Given the description of an element on the screen output the (x, y) to click on. 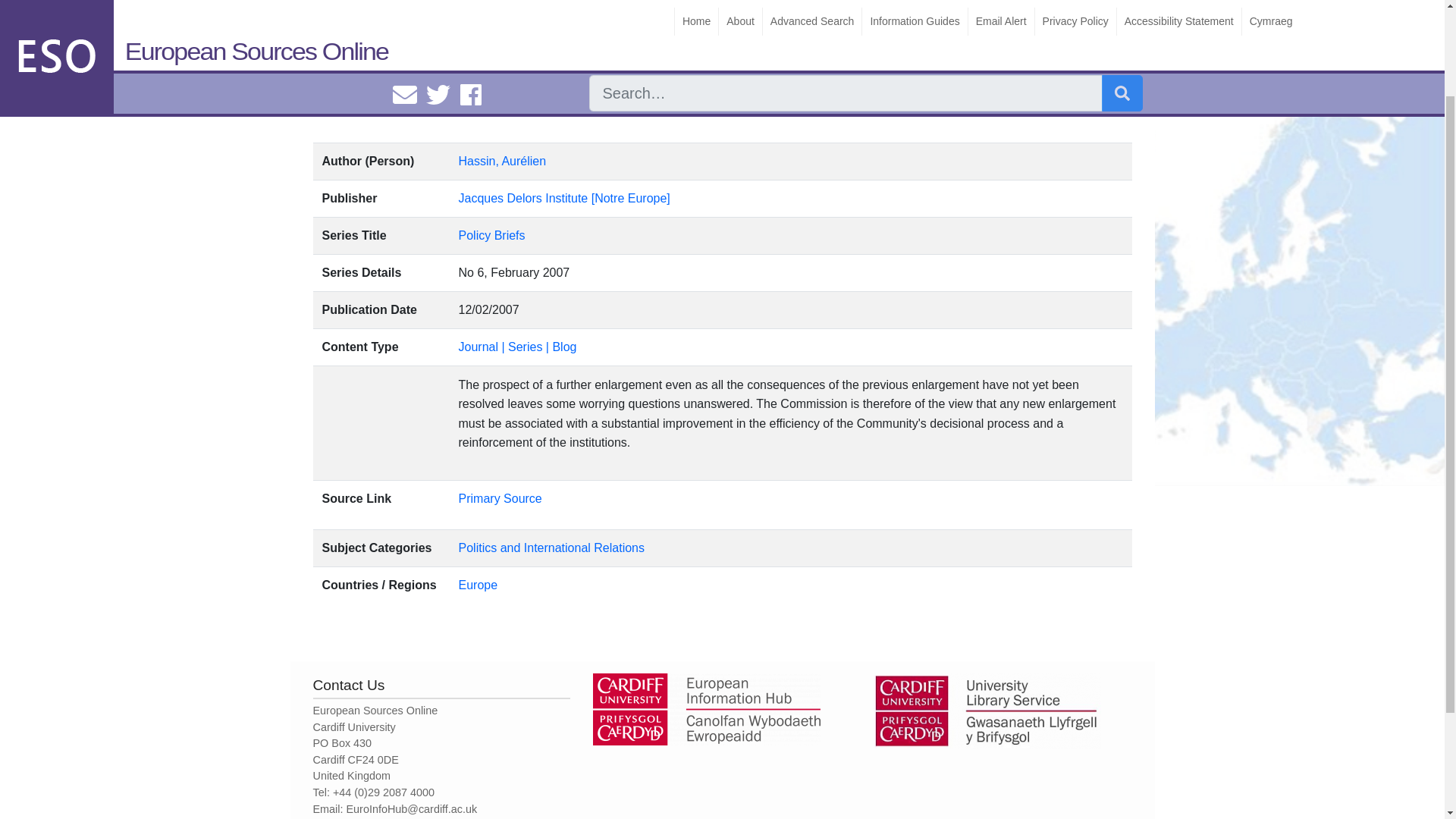
Policy Briefs (491, 235)
Report broken link (474, 23)
Back (337, 23)
Politics and International Relations (551, 547)
Europe (477, 584)
Primary Source (499, 498)
Print (394, 23)
